Given the description of an element on the screen output the (x, y) to click on. 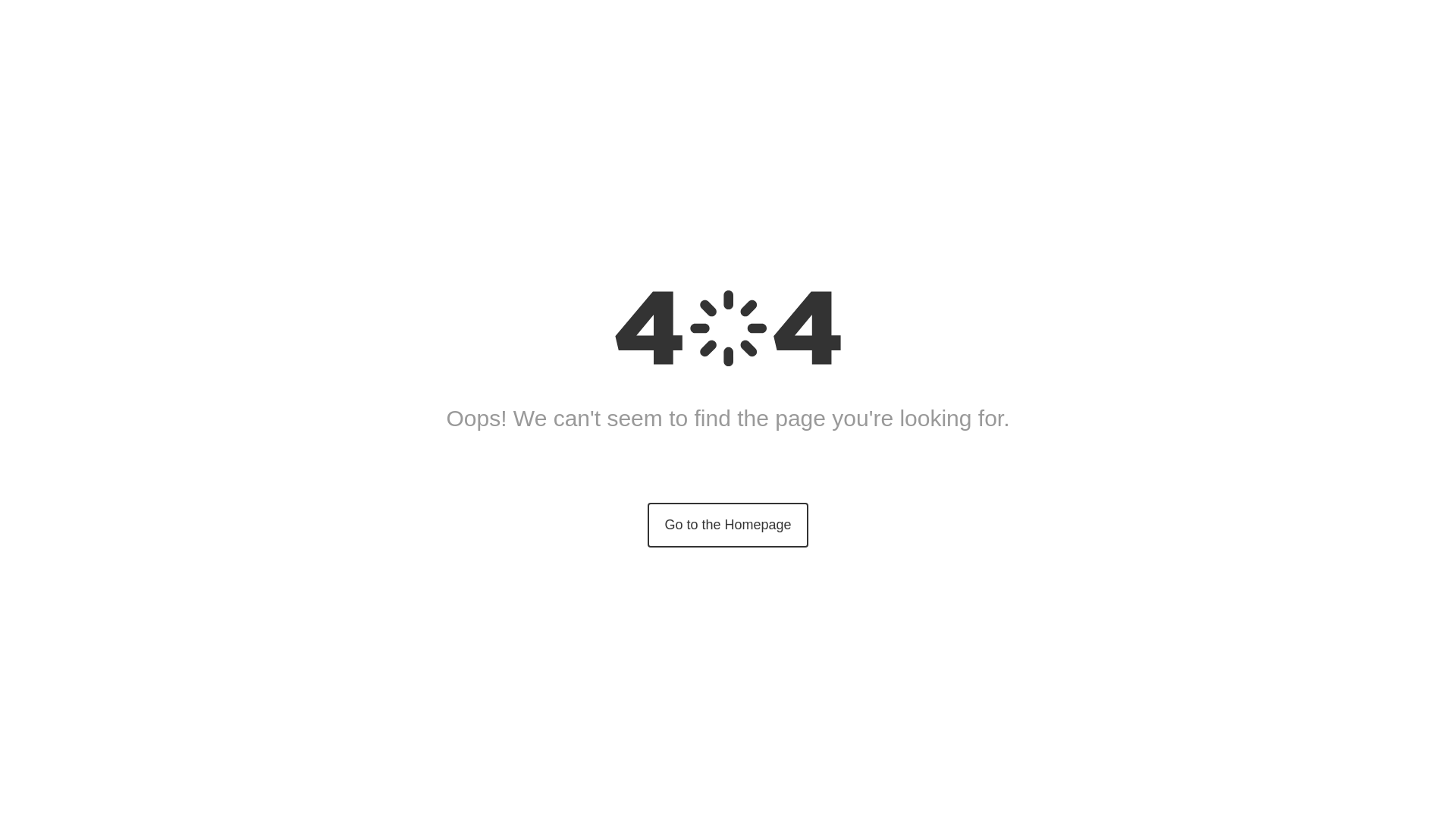
Go to the Homepage Element type: text (727, 524)
